Given the description of an element on the screen output the (x, y) to click on. 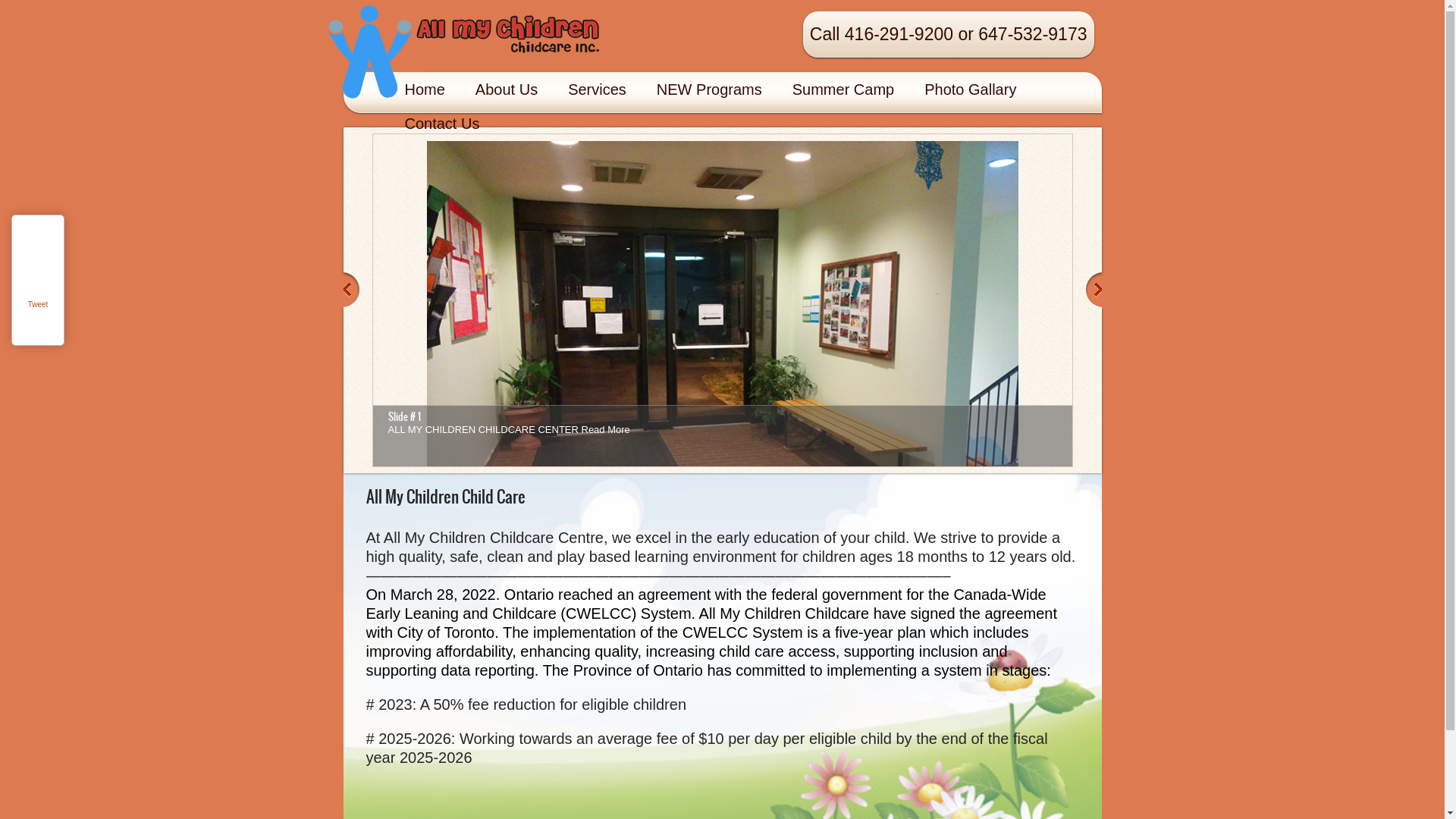
Slide # 1 Element type: text (404, 416)
Photo Gallary Element type: text (970, 89)
Tweet Element type: text (38, 304)
Read More Element type: text (604, 429)
Home Element type: text (424, 89)
Call 416-291-9200 or 647-532-9173 Element type: text (948, 34)
All My Children Child Care Element type: hover (510, 30)
NEW Programs Element type: text (709, 89)
About Us Element type: text (506, 89)
Contact Us Element type: text (442, 123)
Summer Camp Element type: text (843, 89)
Services Element type: text (596, 89)
